Given the description of an element on the screen output the (x, y) to click on. 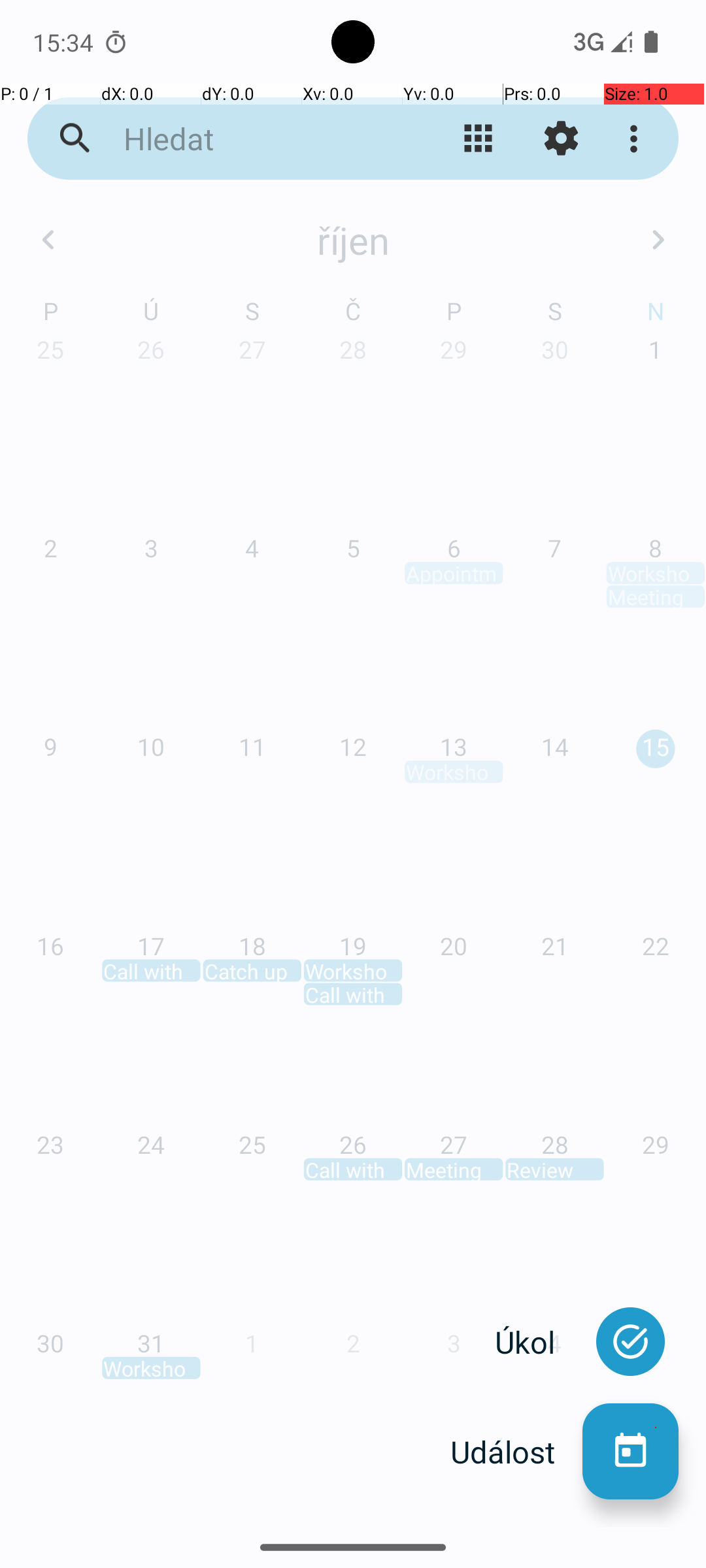
Úkol Element type: android.widget.TextView (538, 1341)
Událost Element type: android.widget.TextView (516, 1451)
říjen Element type: android.widget.TextView (352, 239)
